Given the description of an element on the screen output the (x, y) to click on. 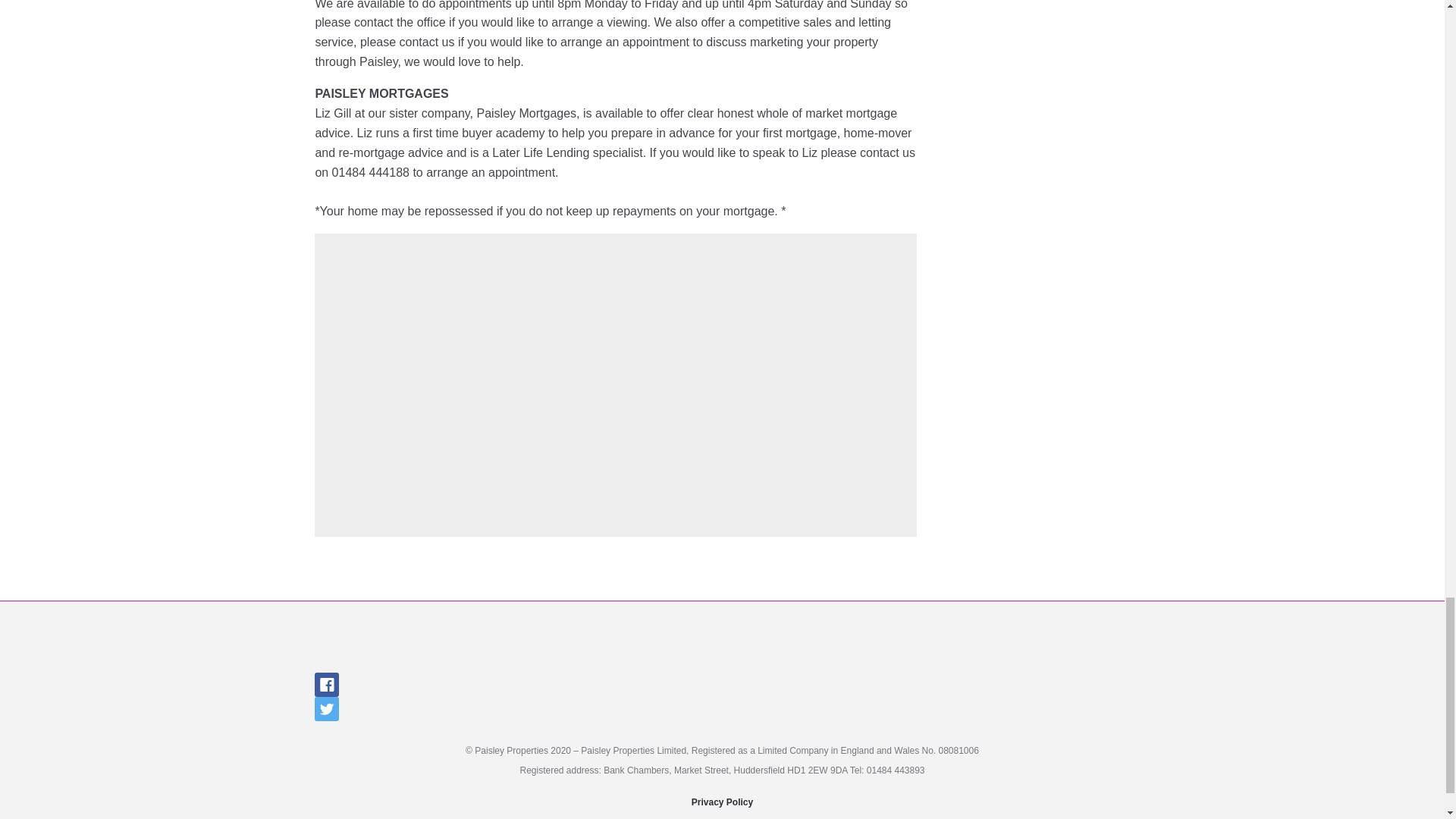
Privacy Policy (721, 801)
